Given the description of an element on the screen output the (x, y) to click on. 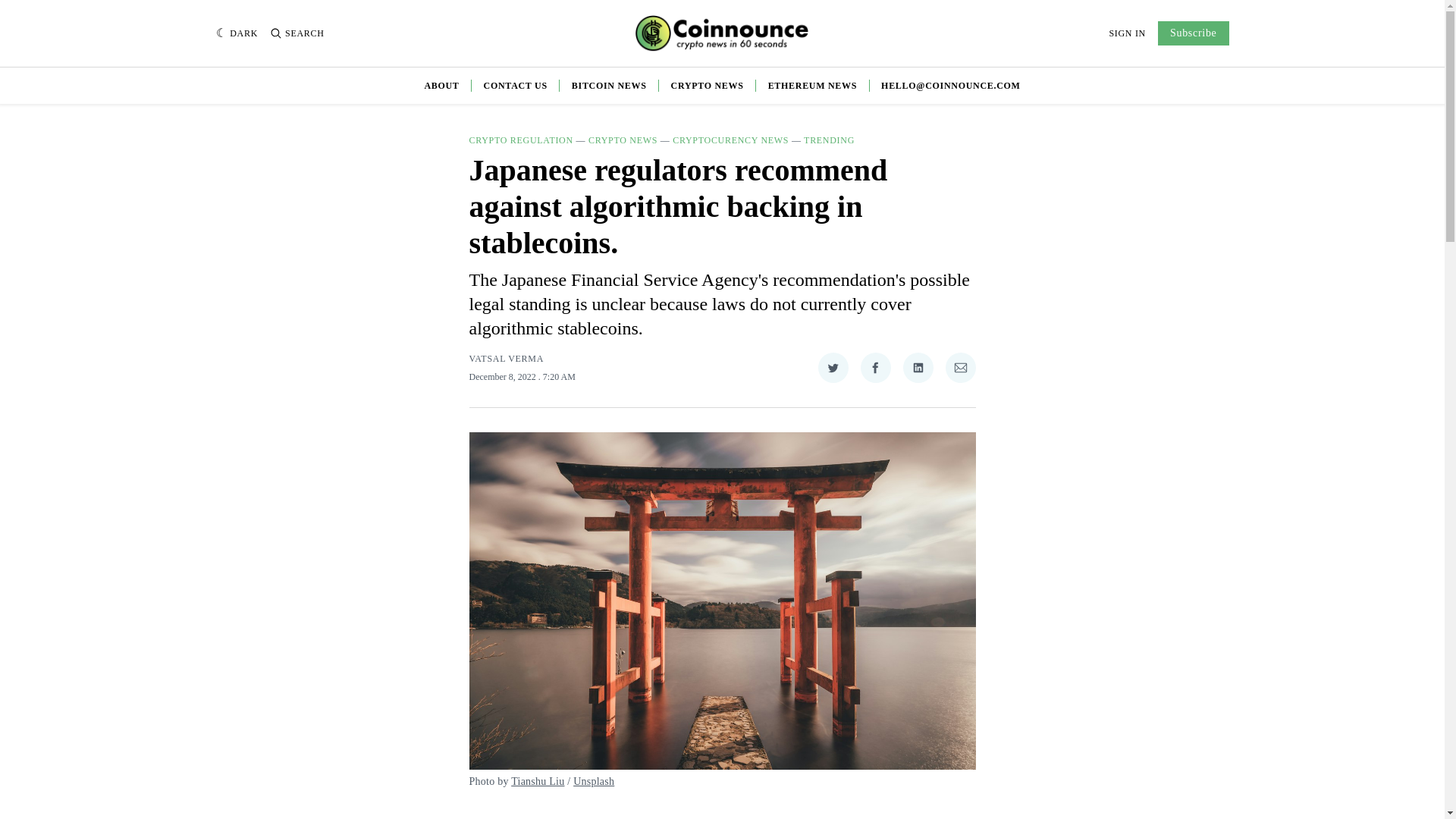
ABOUT (440, 85)
Unsplash (593, 781)
SEARCH (296, 33)
CRYPTO REGULATION (520, 140)
CRYPTO NEWS (707, 85)
CRYPTO NEWS (623, 140)
Share on Facebook (874, 367)
TRENDING (828, 140)
CRYPTOCURENCY NEWS (730, 140)
BITCOIN NEWS (609, 85)
SIGN IN (1126, 33)
Share on Twitter (831, 367)
Subscribe (1192, 33)
Dark (236, 32)
Share via Email (959, 367)
